Given the description of an element on the screen output the (x, y) to click on. 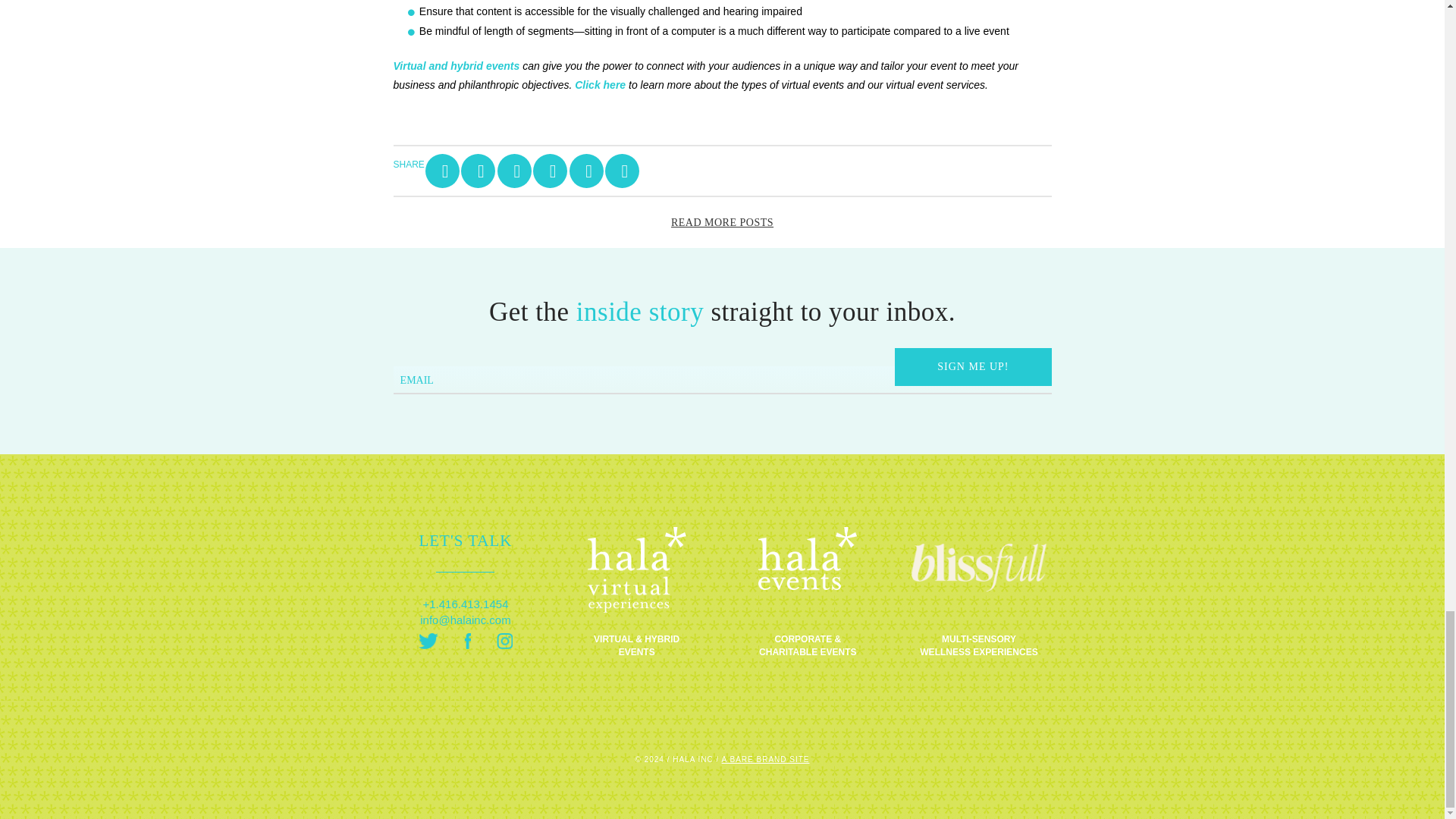
READ MORE POSTS (722, 222)
SIGN ME UP! (973, 366)
Click here (600, 84)
Virtual and hybrid events (456, 65)
SIGN ME UP! (973, 366)
